Given the description of an element on the screen output the (x, y) to click on. 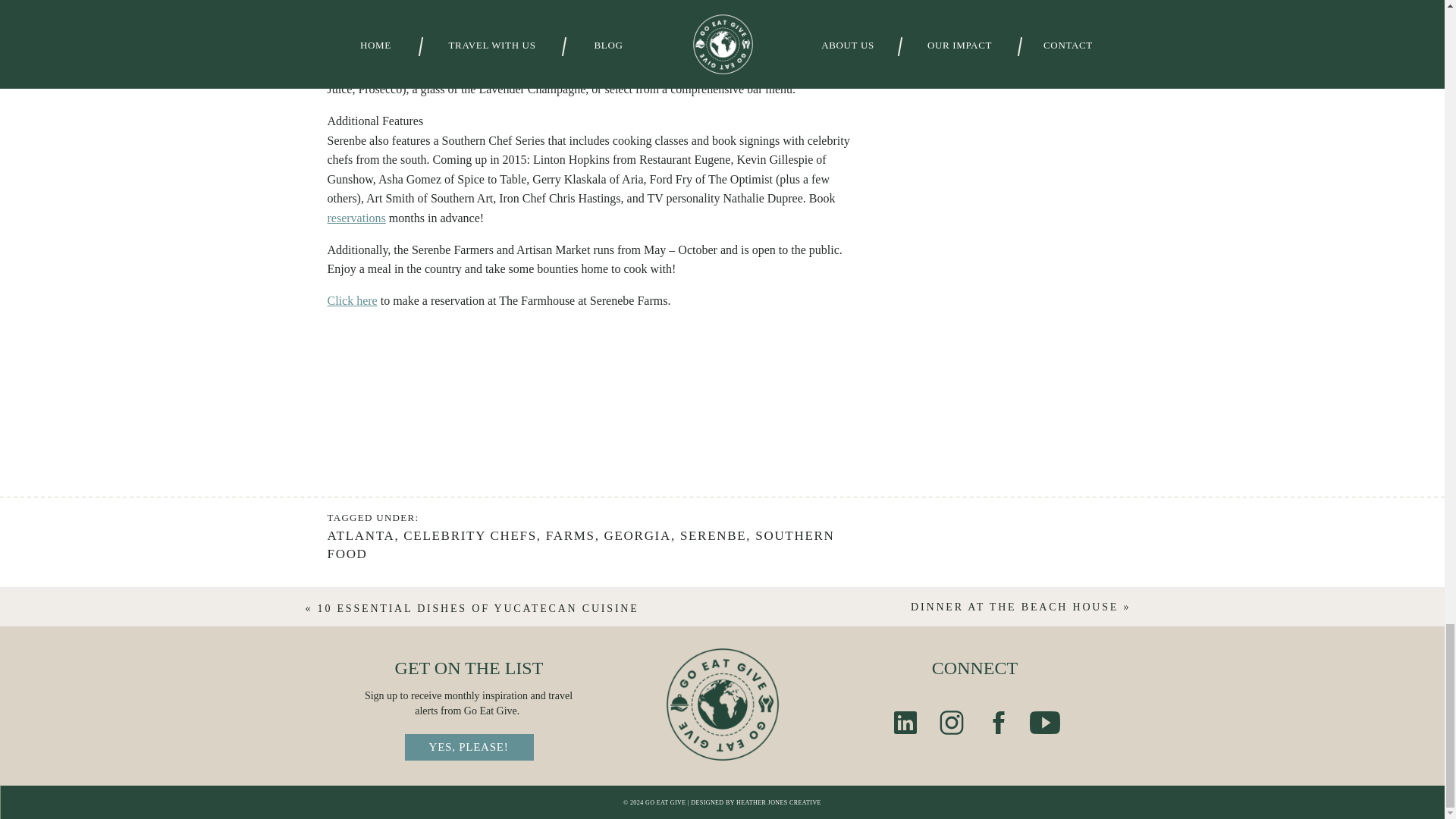
Click here (352, 300)
ATLANTA (360, 535)
HEATHER JONES CREATIV (775, 802)
reservations (356, 217)
SERENBE (712, 535)
FARMS (570, 535)
SOUTHERN FOOD (580, 544)
YES, PLEASE! (469, 745)
DINNER AT THE BEACH HOUSE (1014, 606)
CELEBRITY CHEFS (470, 535)
